Given the description of an element on the screen output the (x, y) to click on. 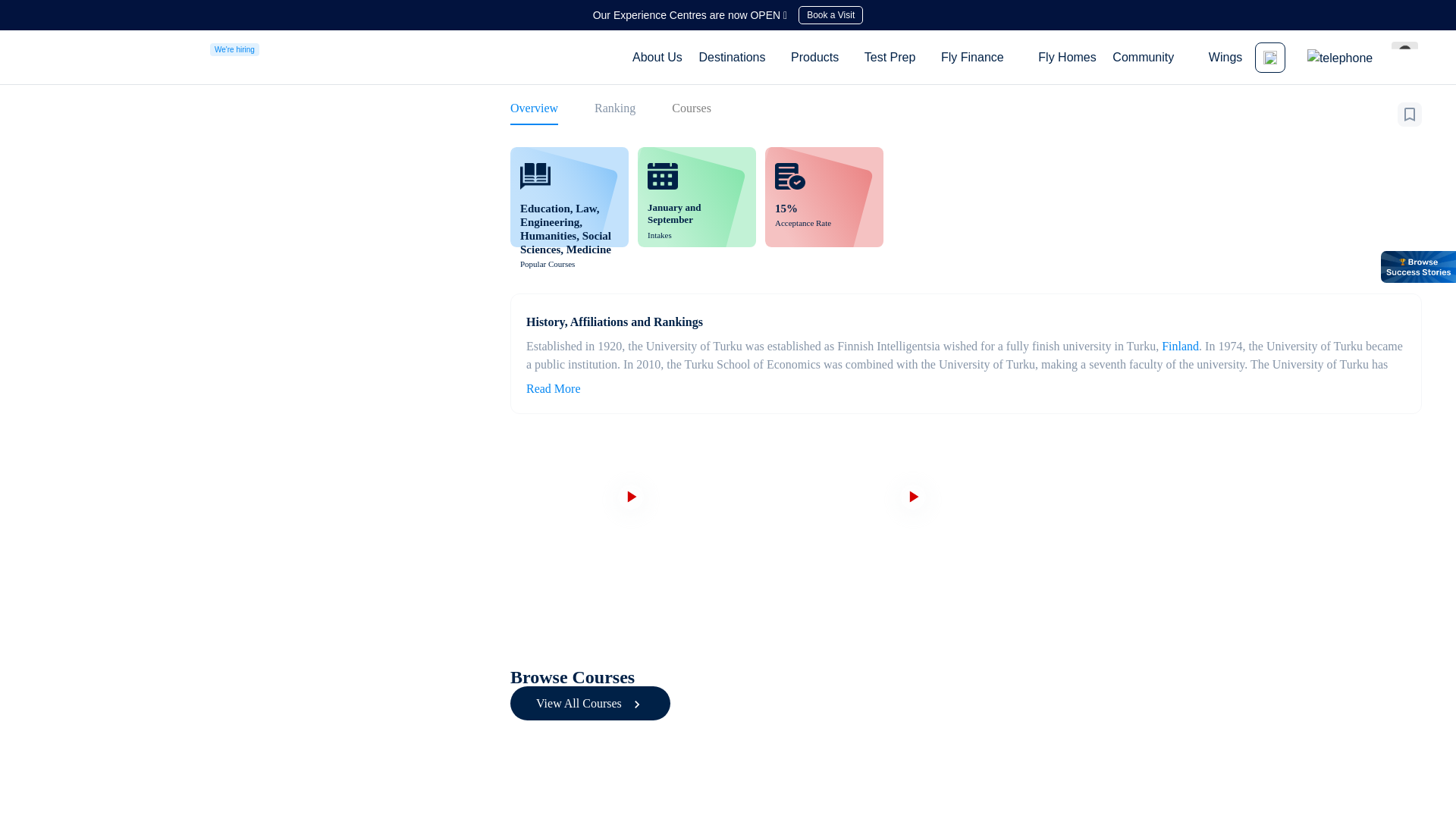
About Us (656, 57)
Products (814, 56)
Fly Homes (1067, 57)
We're hiring (234, 48)
Test Prep (890, 56)
Destinations (731, 56)
Fly Finance (972, 56)
Book a Visit (830, 14)
